Given the description of an element on the screen output the (x, y) to click on. 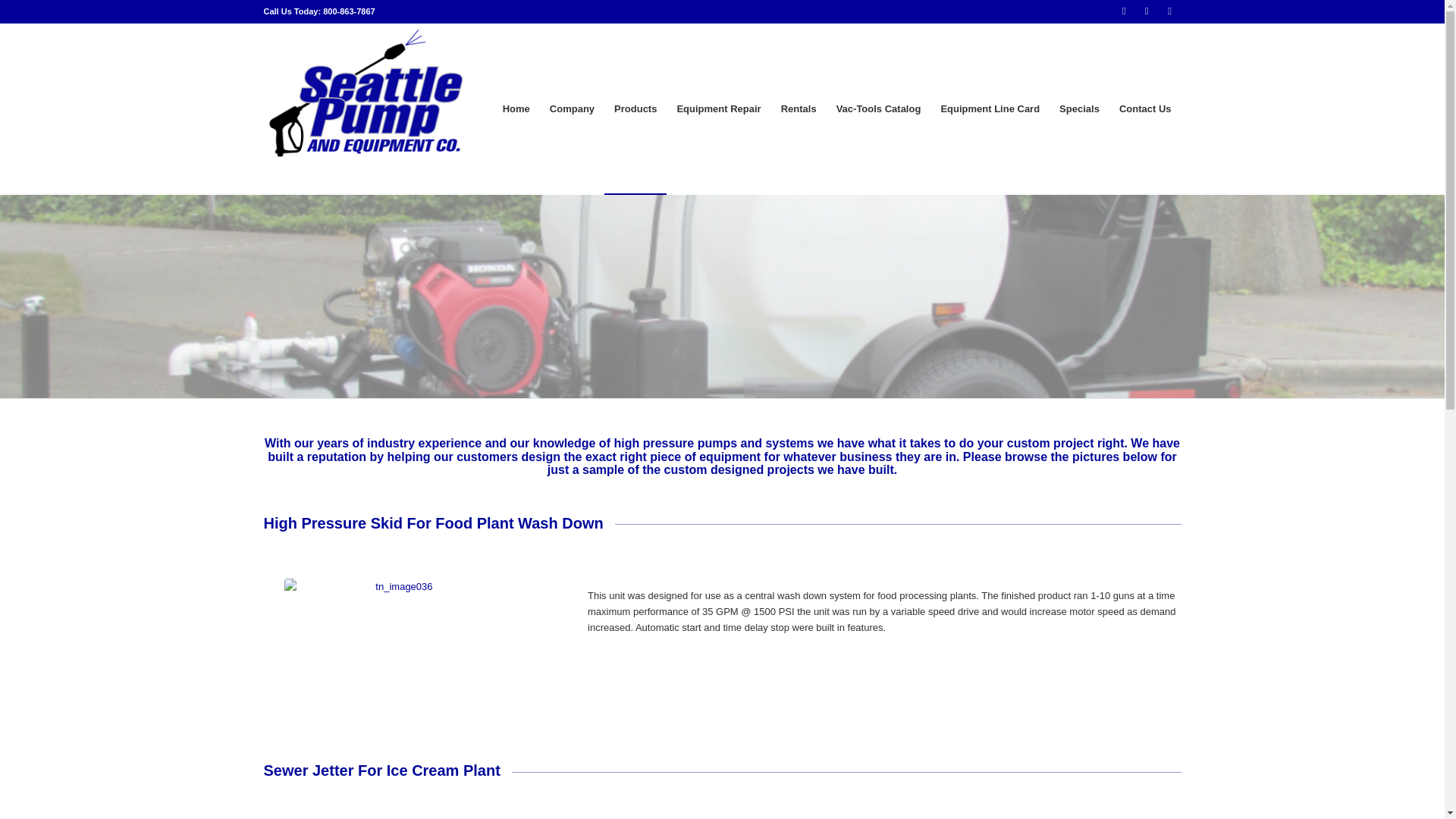
Facebook (1124, 11)
Twitter (1146, 11)
LinkedIn (1169, 11)
